Given the description of an element on the screen output the (x, y) to click on. 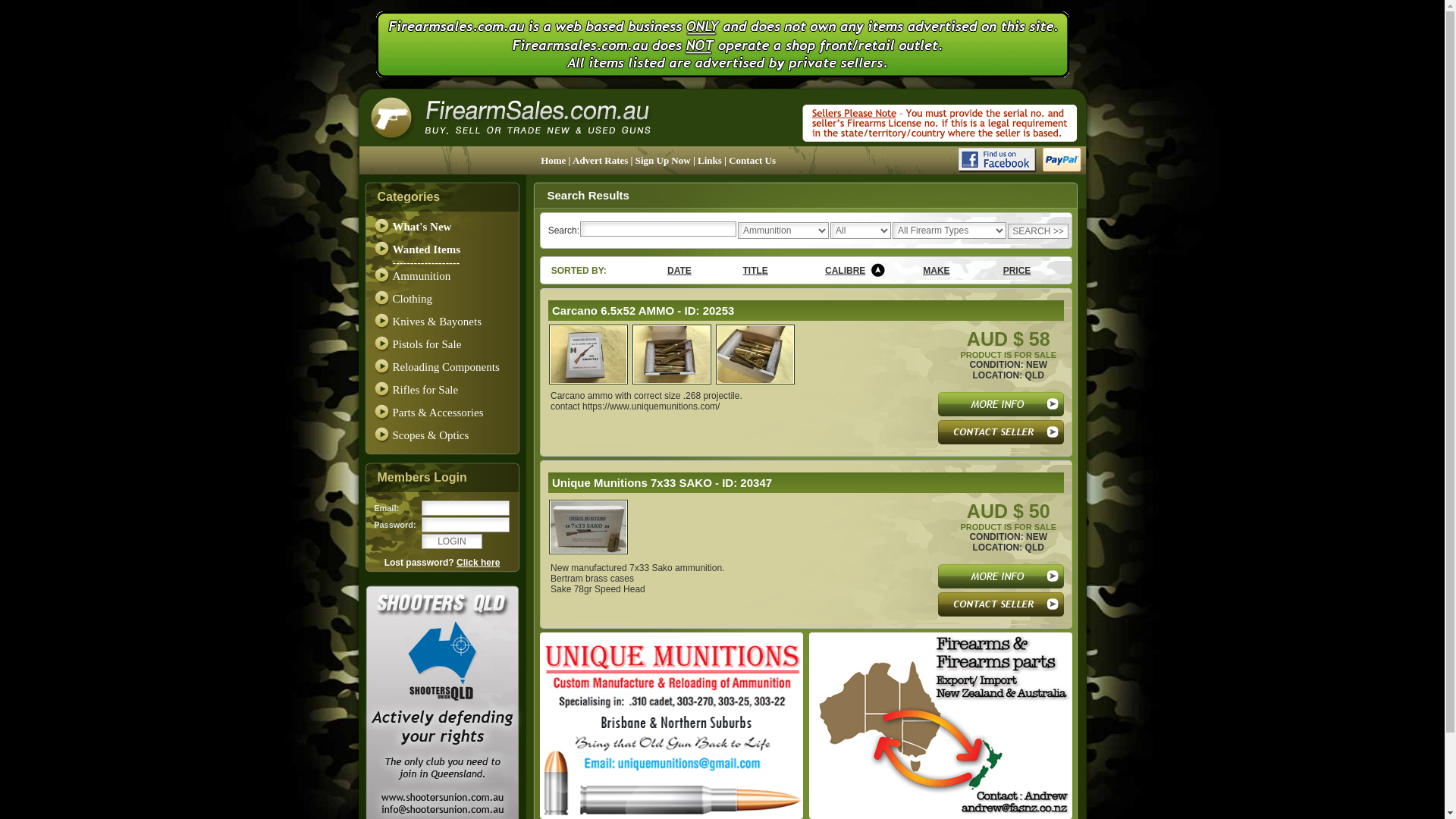
Links Element type: text (710, 160)
Reloading Components Element type: text (445, 366)
CALIBRE Element type: text (845, 270)
Ammunition Element type: text (421, 275)
Pistols for Sale Element type: text (426, 344)
Press 'escape' to close Element type: hover (588, 551)
Scopes & Optics Element type: text (430, 435)
Rifles for Sale Element type: text (425, 389)
Sign Up Now Element type: text (664, 160)
Clothing Element type: text (412, 298)
Wanted Items Element type: text (426, 249)
  LOGIN   Element type: text (451, 541)
SEARCH >> Element type: text (1037, 230)
Press 'escape' to close Element type: hover (588, 381)
What's New Element type: text (421, 226)
Advert Rates Element type: text (601, 160)
Parts & Accessories Element type: text (437, 412)
Home Element type: text (553, 160)
DATE Element type: text (679, 270)
Press 'escape' to close Element type: hover (755, 381)
MAKE Element type: text (935, 270)
PRICE Element type: text (1017, 270)
Press 'escape' to close Element type: hover (671, 381)
Knives & Bayonets Element type: text (437, 321)
Click here Element type: text (477, 562)
Contact Us Element type: text (751, 160)
TITLE Element type: text (755, 270)
